Given the description of an element on the screen output the (x, y) to click on. 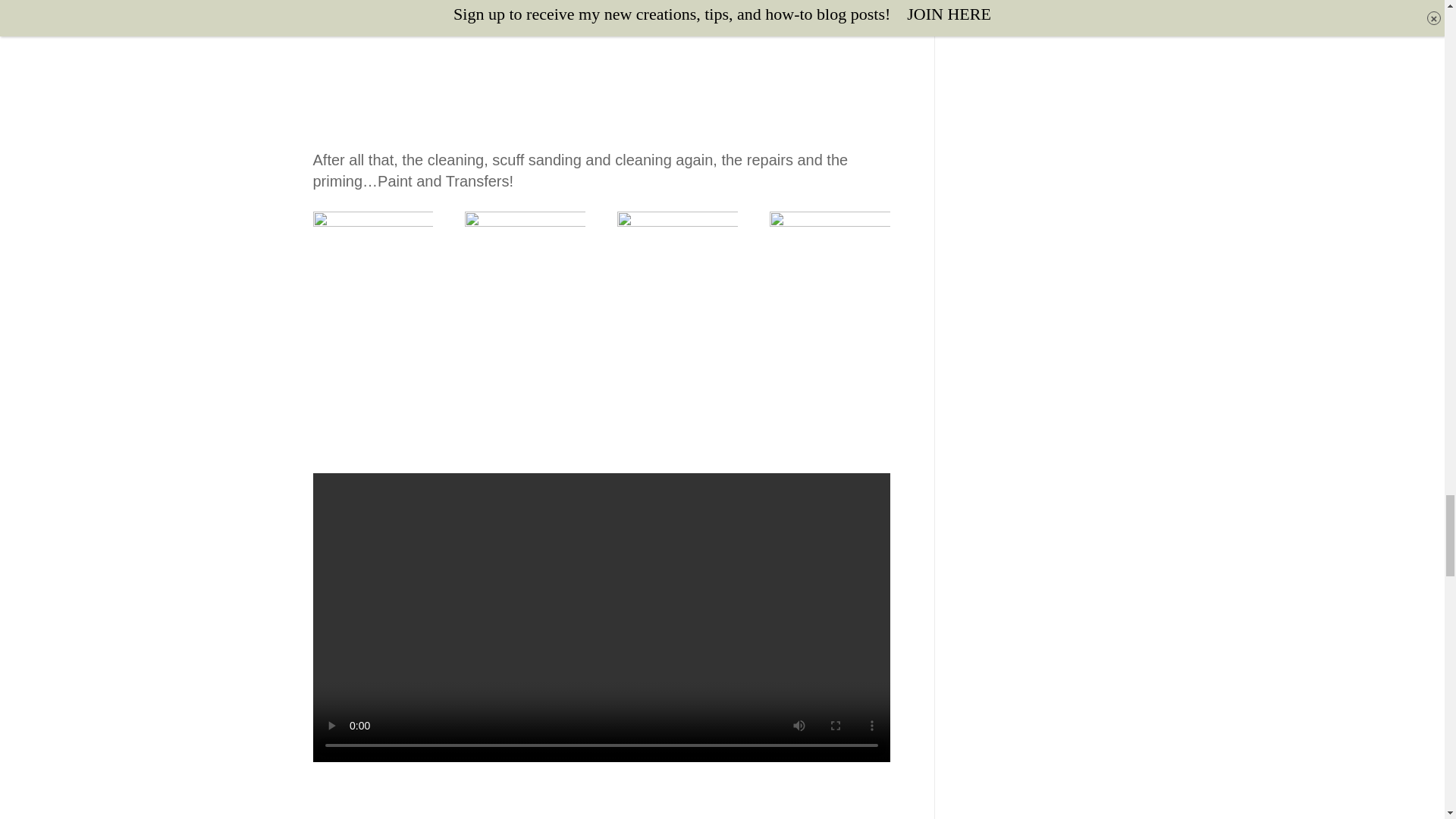
2D35CB7A-E35D-4B6D-8FFF-BDAF9BCFF547 (601, 23)
8816C2ED-BAAC-41F1-9EA9-C780FDBA320C (804, 23)
FC278DAE-CCBE-4DB9-BB8B-DE221AB32B6C (524, 291)
25641BF2-85CF-49CA-B88D-E3B3C470C445 (372, 291)
CD317F4D-8E1A-46D3-A3DF-7C5DFA483999 (398, 23)
